Given the description of an element on the screen output the (x, y) to click on. 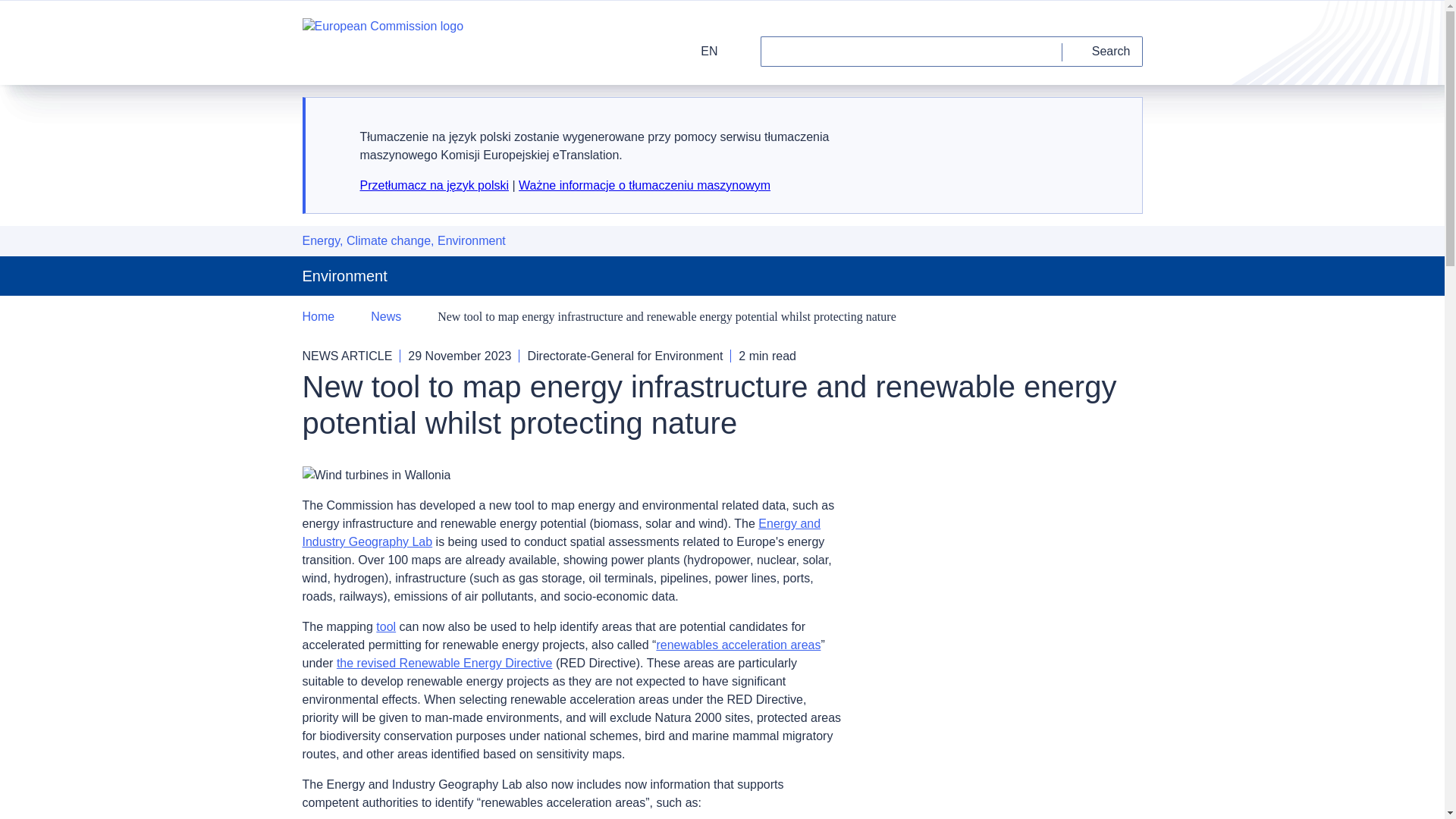
Search (1102, 51)
European Commission (382, 42)
EN (699, 51)
Energy and Industry Geography Lab (561, 531)
Home (317, 316)
renewables acceleration areas (738, 644)
Energy, Climate change, Environment (403, 240)
tool (385, 626)
News (386, 316)
the revised Renewable Energy Directive (444, 662)
